Given the description of an element on the screen output the (x, y) to click on. 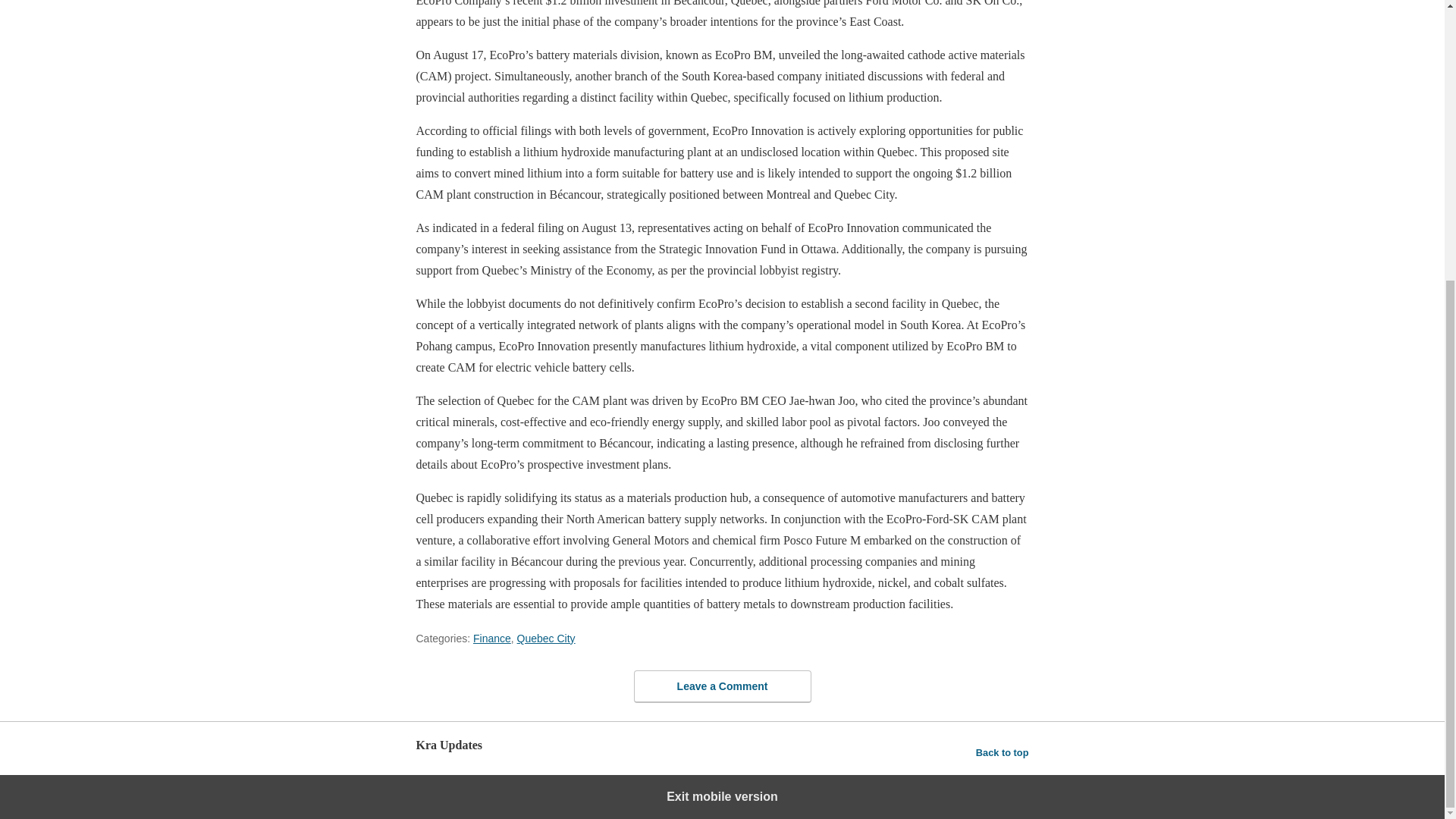
Quebec City (545, 638)
Finance (492, 638)
Leave a Comment (721, 686)
Back to top (1002, 752)
